Given the description of an element on the screen output the (x, y) to click on. 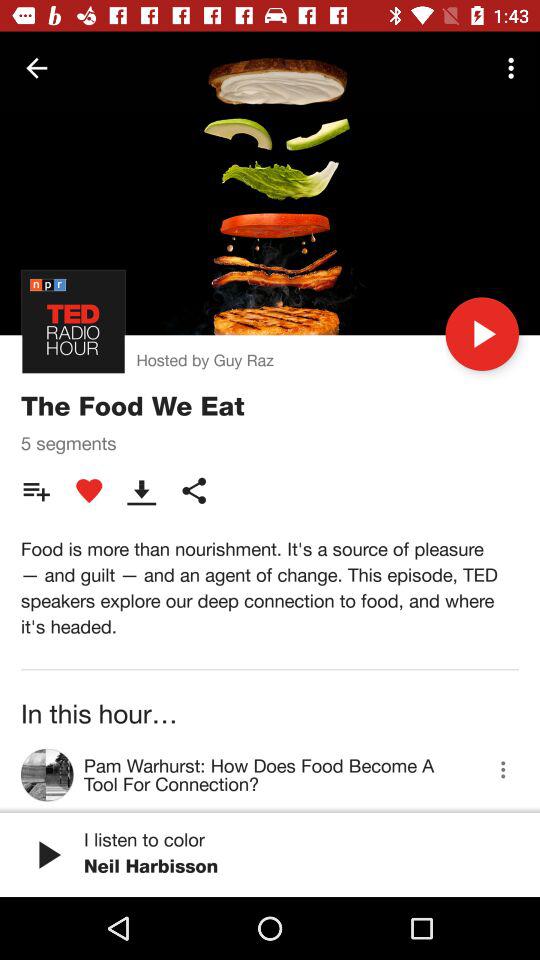
click icon at the top left corner (36, 68)
